Given the description of an element on the screen output the (x, y) to click on. 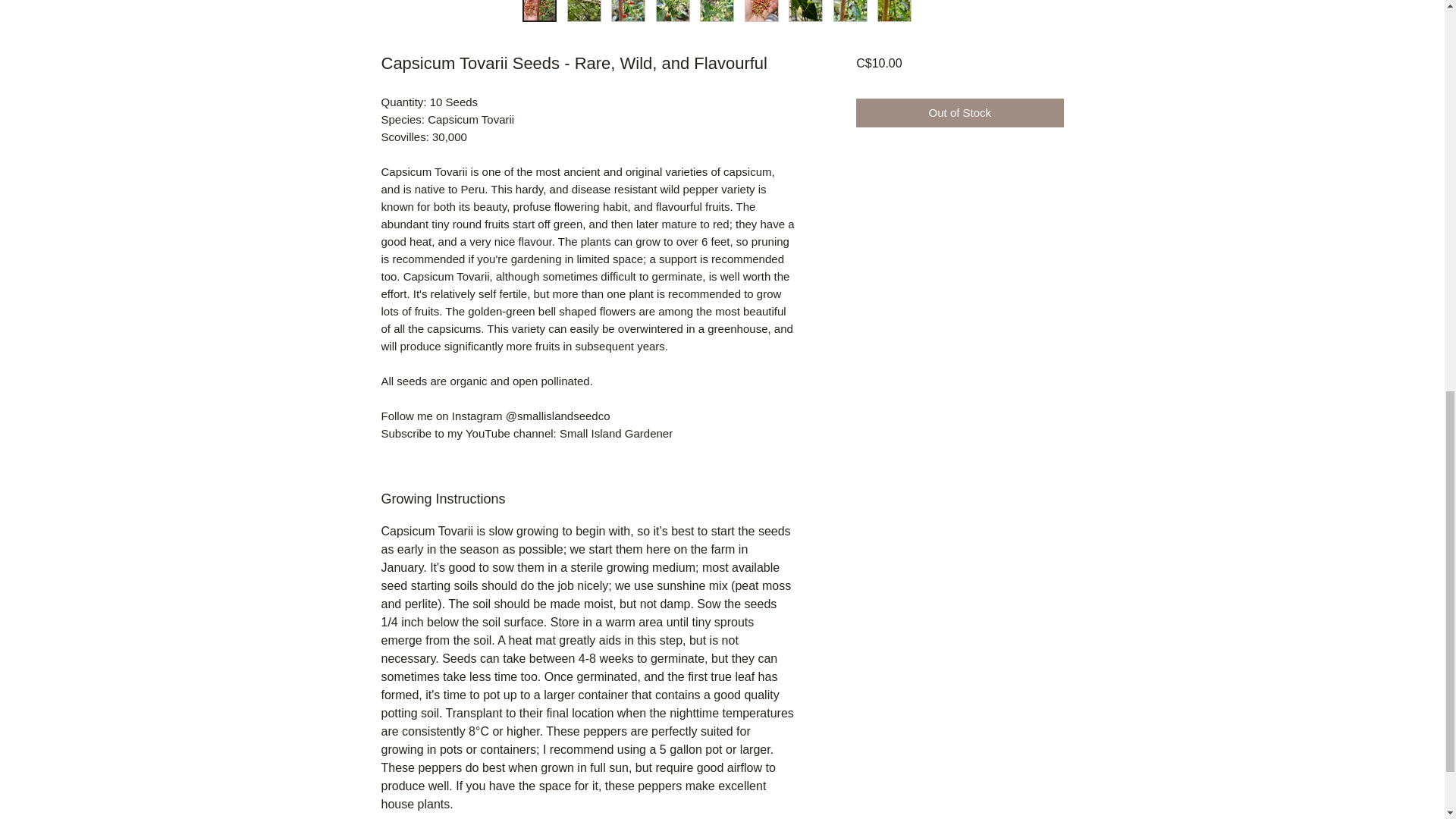
Out of Stock (959, 112)
